Given the description of an element on the screen output the (x, y) to click on. 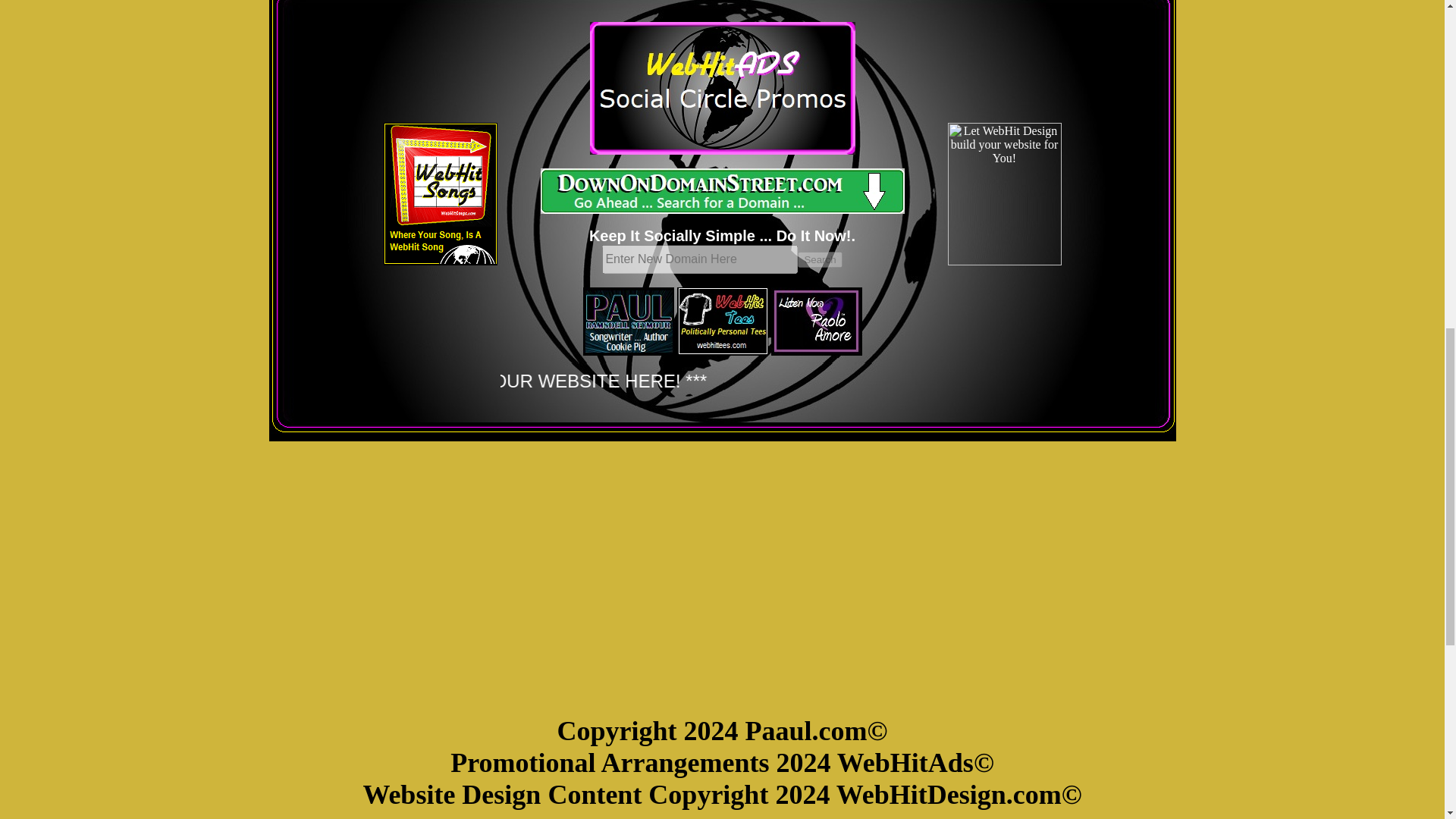
Search (819, 259)
Listen to the World's Most Beautiful Music from Paolo Amore (815, 321)
Politically Personal Tees (722, 321)
WebHitAds get you WebHits! (722, 88)
Click here to start your Website (722, 190)
Paul Ramsdell Seymour Musical Webmaster (627, 321)
